Given the description of an element on the screen output the (x, y) to click on. 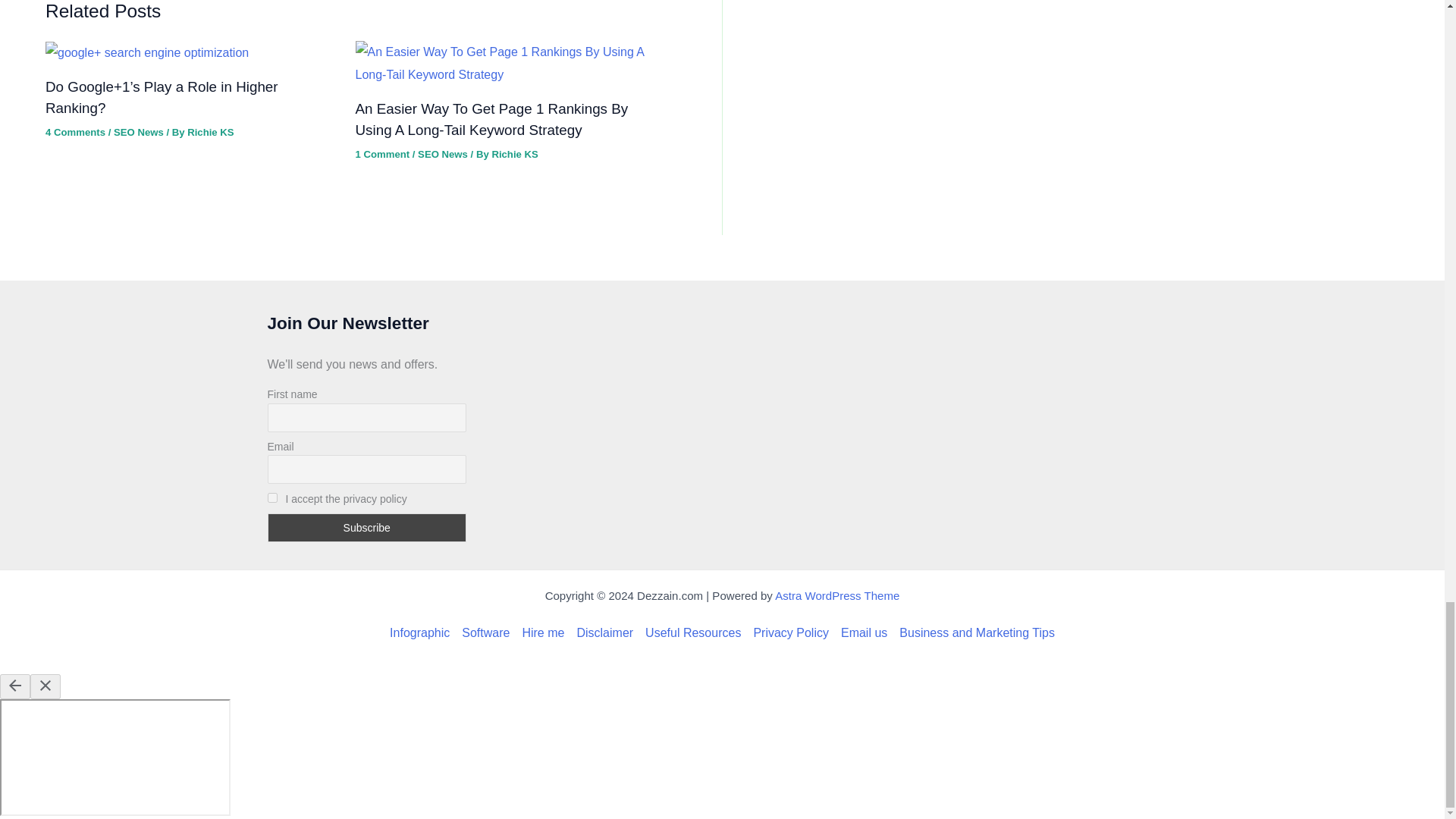
on (271, 497)
Subscribe (365, 527)
View all posts by Richie KS (514, 153)
View all posts by Richie KS (209, 132)
SEO News (138, 132)
4 Comments (74, 132)
